Given the description of an element on the screen output the (x, y) to click on. 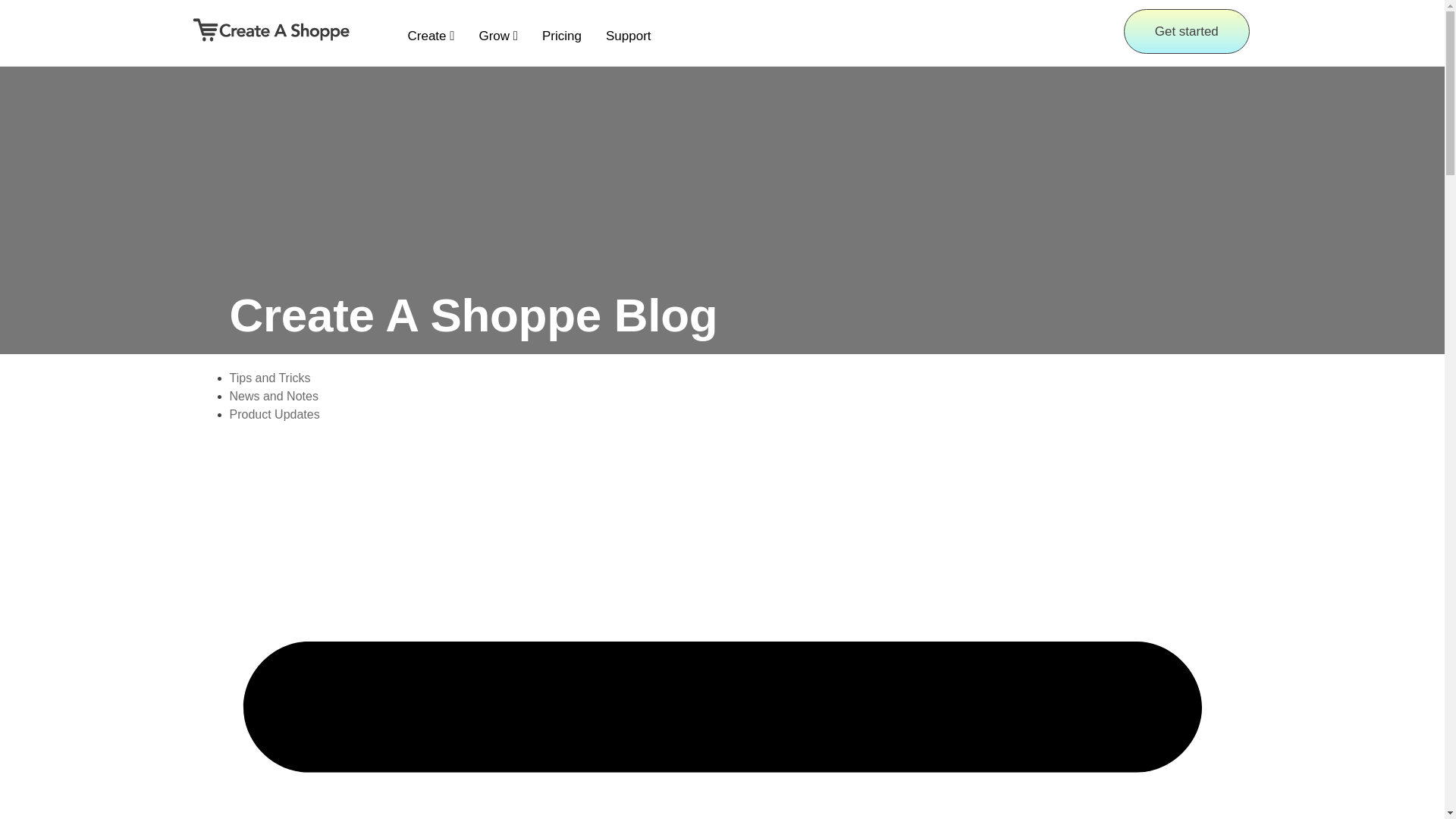
Support (627, 30)
News and Notes (272, 395)
Get started (1186, 31)
Pricing (561, 30)
Product Updates (273, 413)
Create (430, 30)
Tips and Tricks (269, 377)
Grow (497, 30)
